Given the description of an element on the screen output the (x, y) to click on. 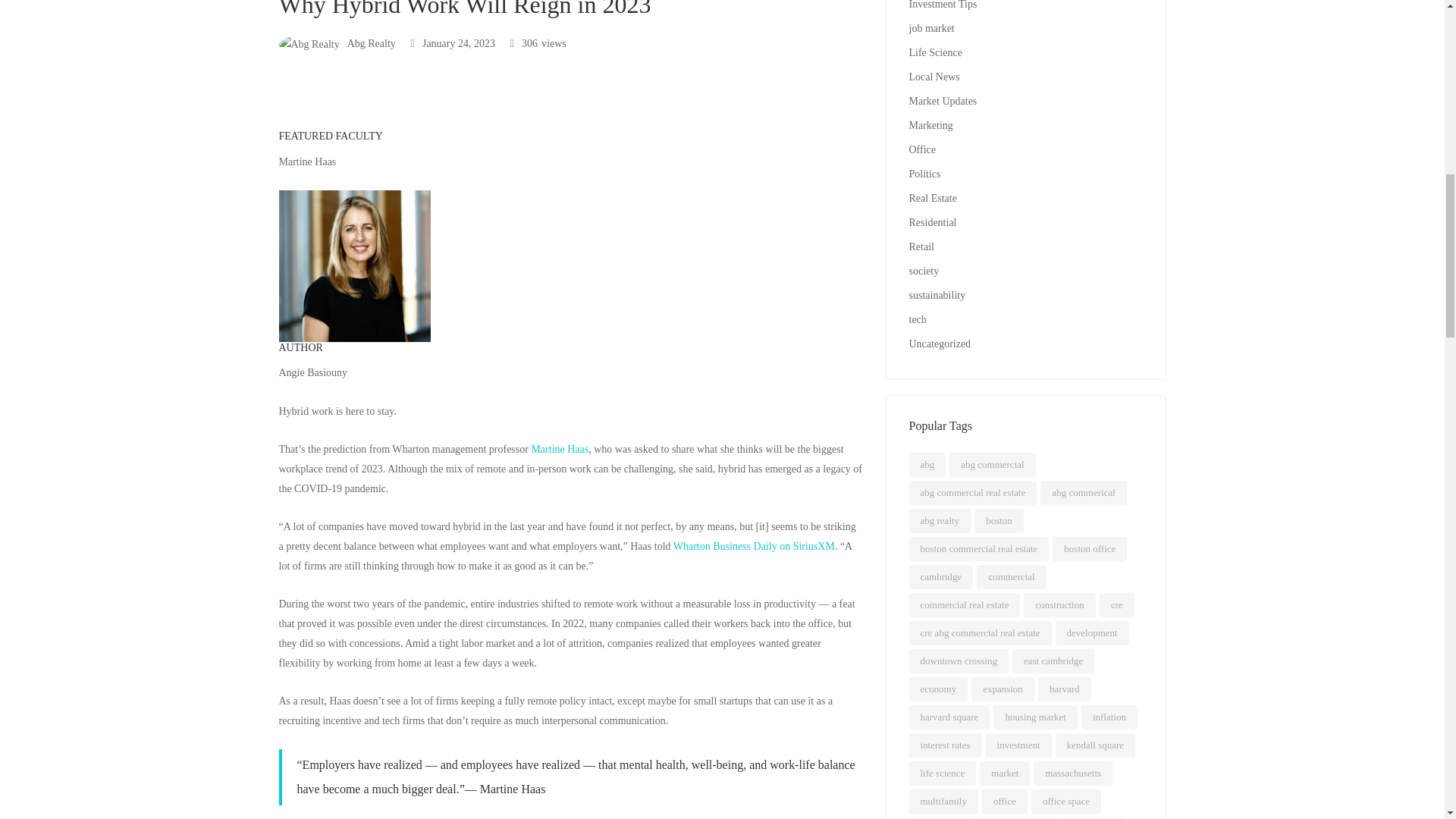
Martine Haas (559, 449)
Why Hybrid Work Will Reign in 2023 (452, 43)
Abg Realty (337, 43)
January 24, 2023 (452, 43)
Browse Author Articles (337, 43)
Wharton Business Daily on SiriusXM (753, 546)
